Given the description of an element on the screen output the (x, y) to click on. 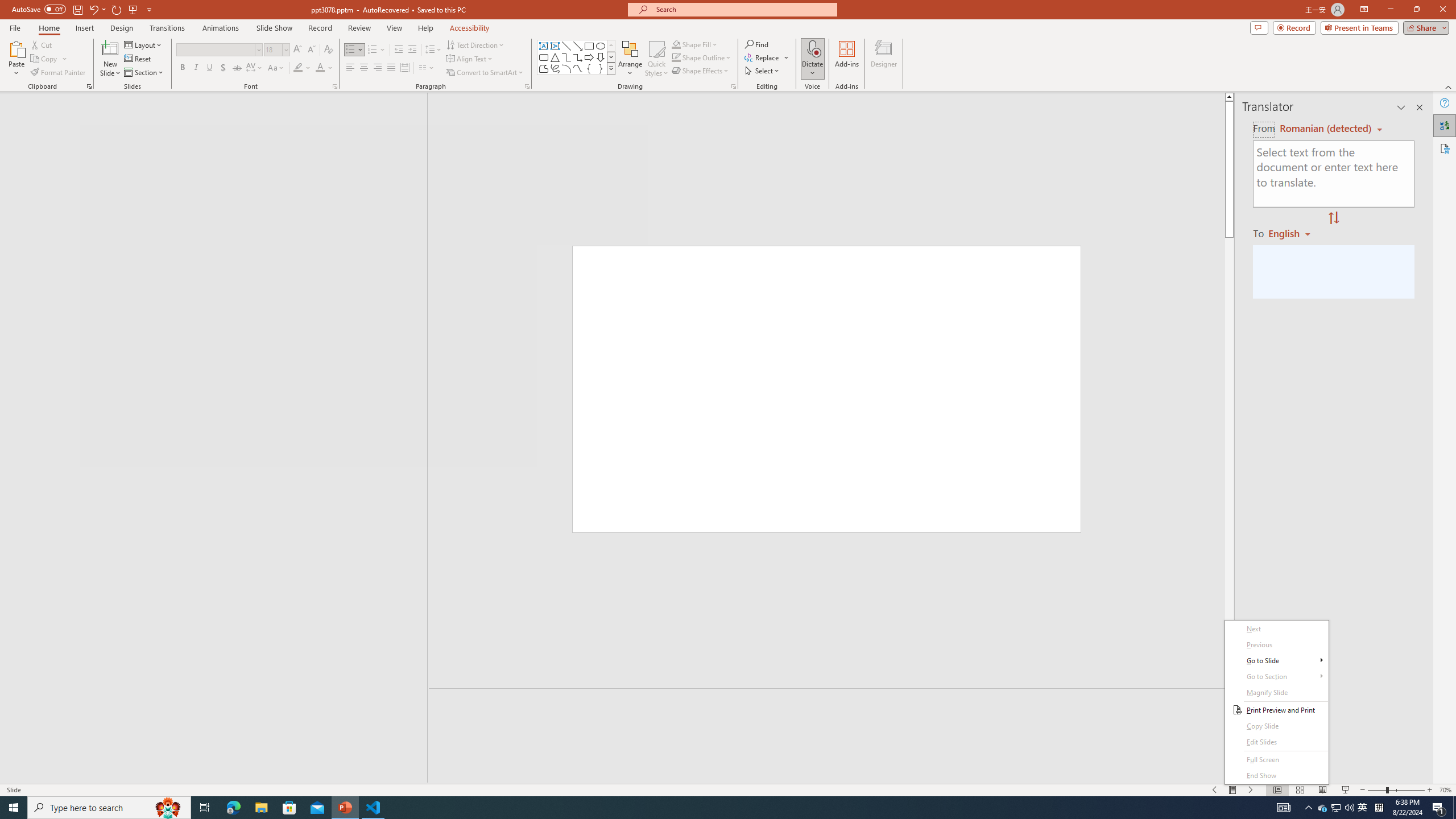
Text Box (543, 45)
Bold (182, 67)
Decrease Font Size (1362, 807)
Find... (310, 49)
Distributed (756, 44)
Cut (404, 67)
Font (42, 44)
Task View (219, 49)
